Given the description of an element on the screen output the (x, y) to click on. 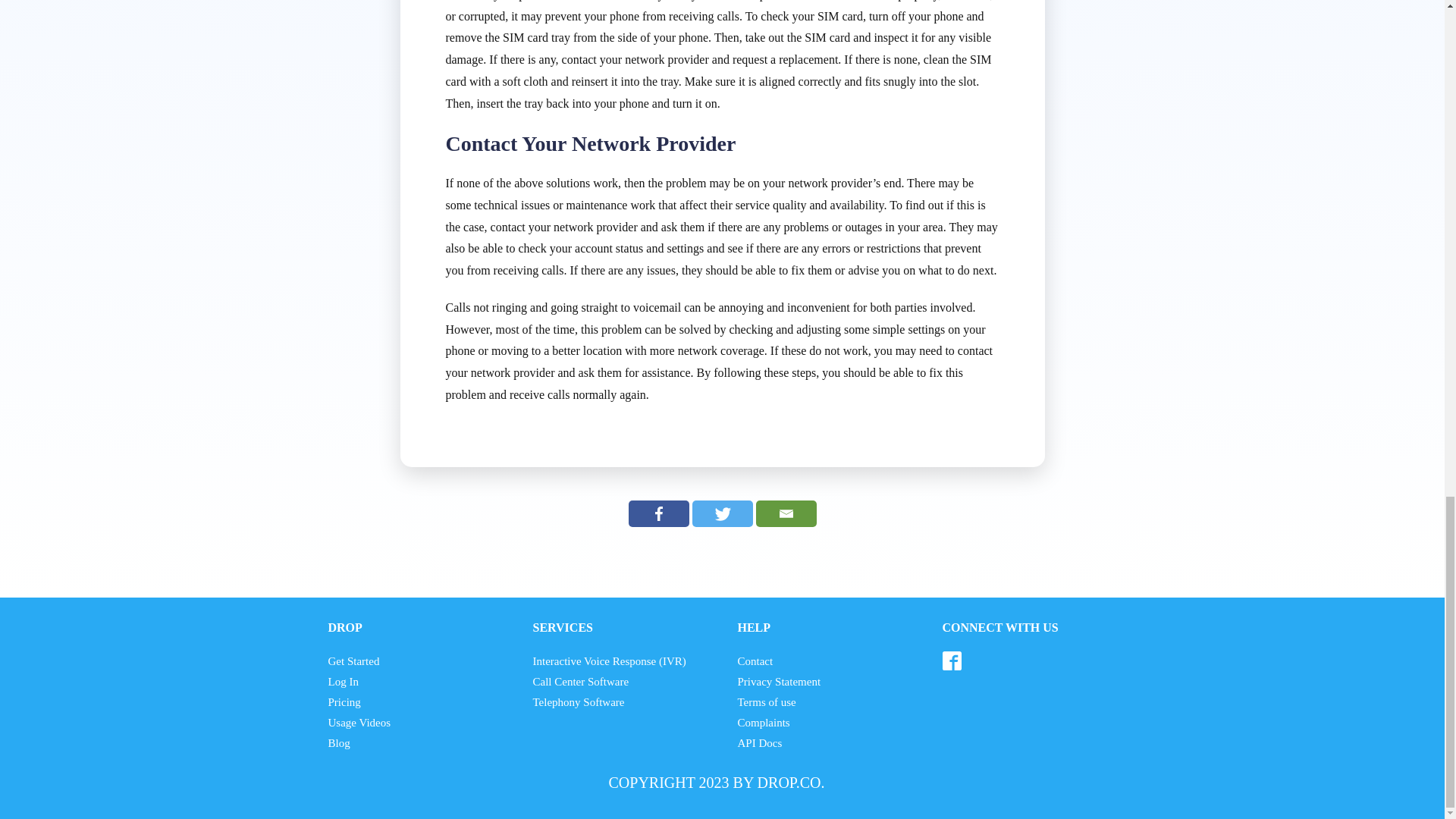
Twitter (721, 513)
Pricing (343, 702)
Blog (338, 743)
Usage Videos (358, 722)
Get Started (352, 661)
Facebook (657, 513)
Log In (342, 681)
Call Center Software (580, 681)
Telephony Software (578, 702)
Privacy Statement (778, 681)
